Given the description of an element on the screen output the (x, y) to click on. 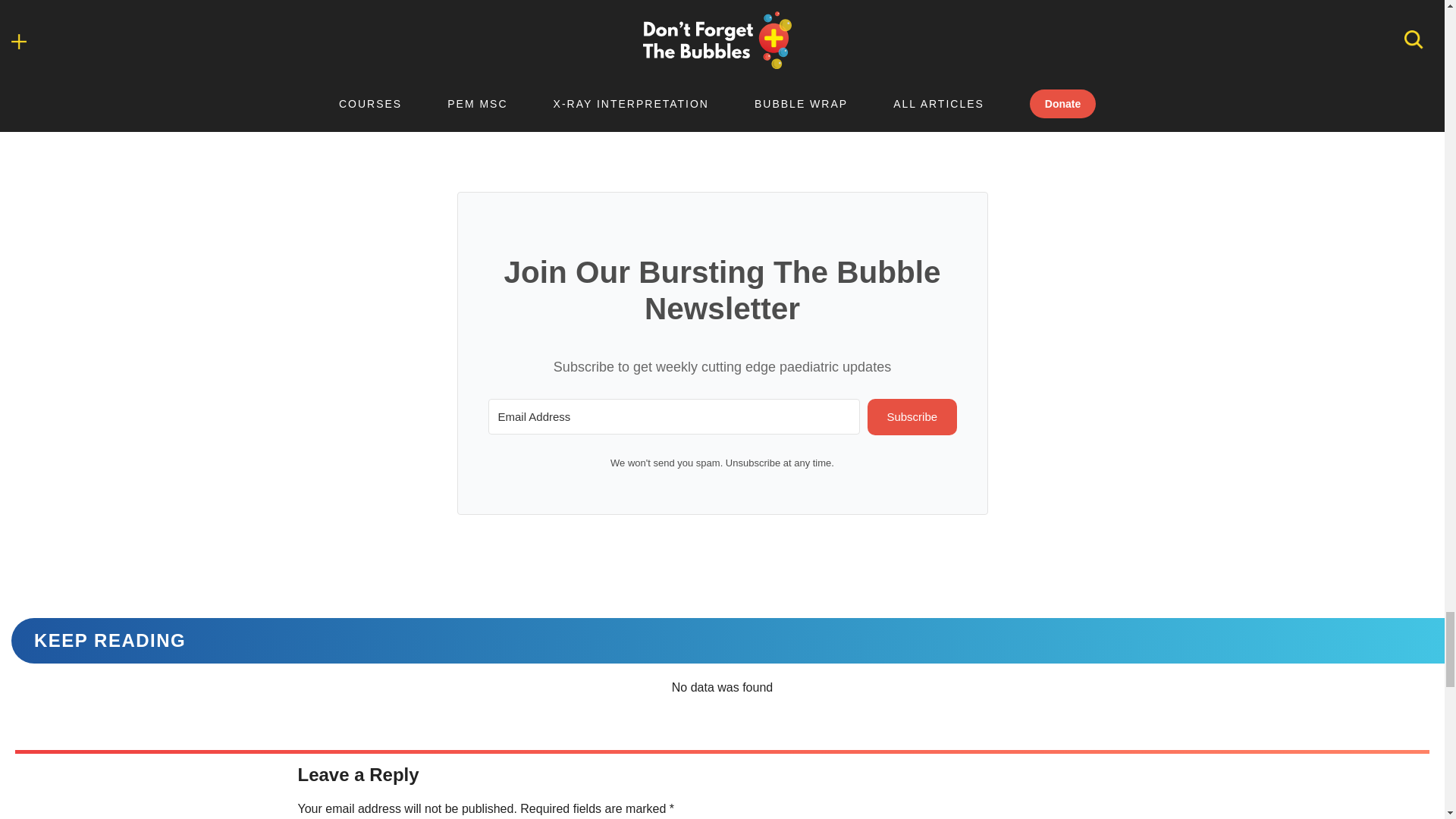
View all posts (364, 64)
